Given the description of an element on the screen output the (x, y) to click on. 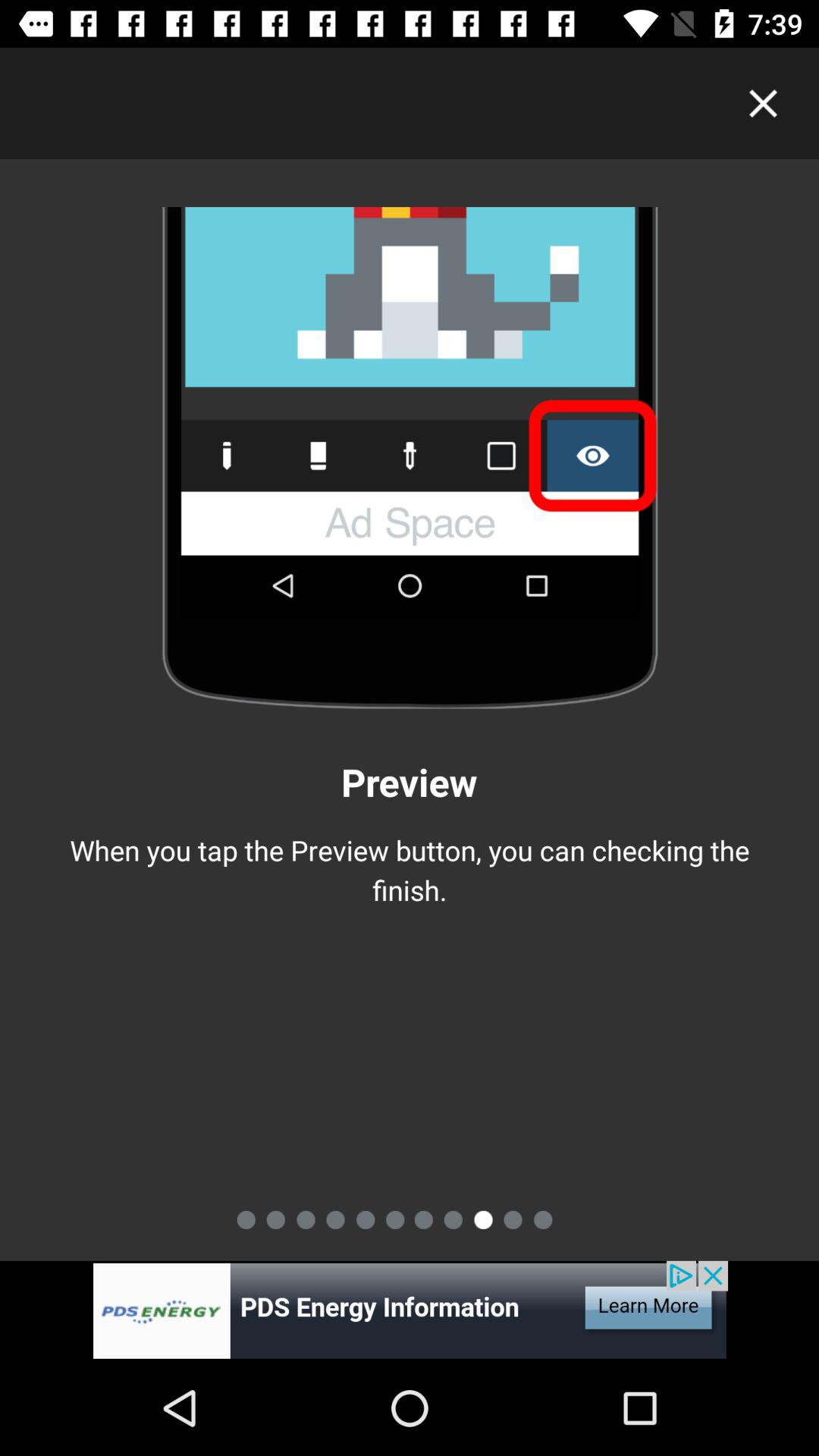
toggle advertisement (409, 1310)
